Given the description of an element on the screen output the (x, y) to click on. 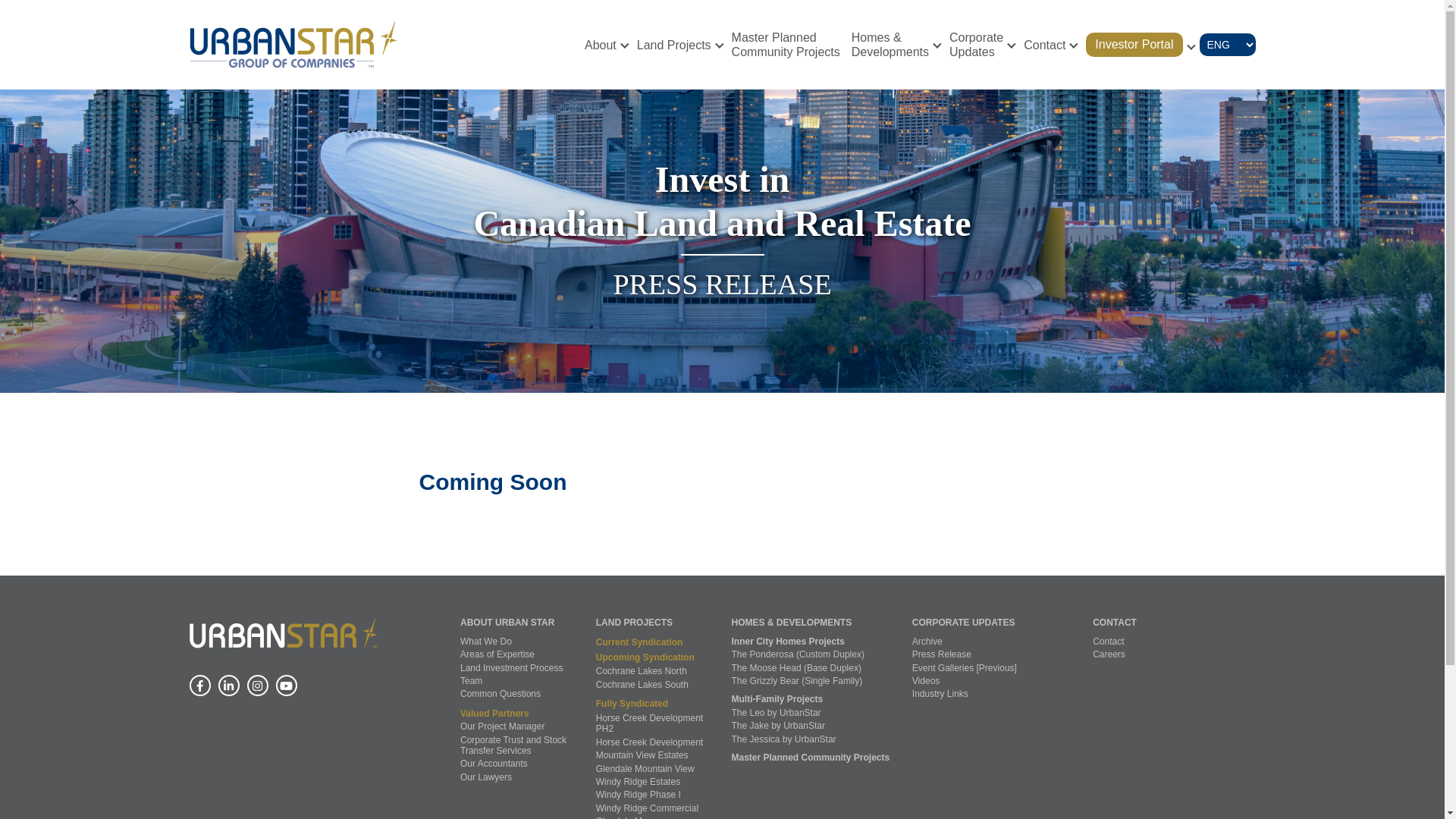
Land Projects (786, 44)
